Given the description of an element on the screen output the (x, y) to click on. 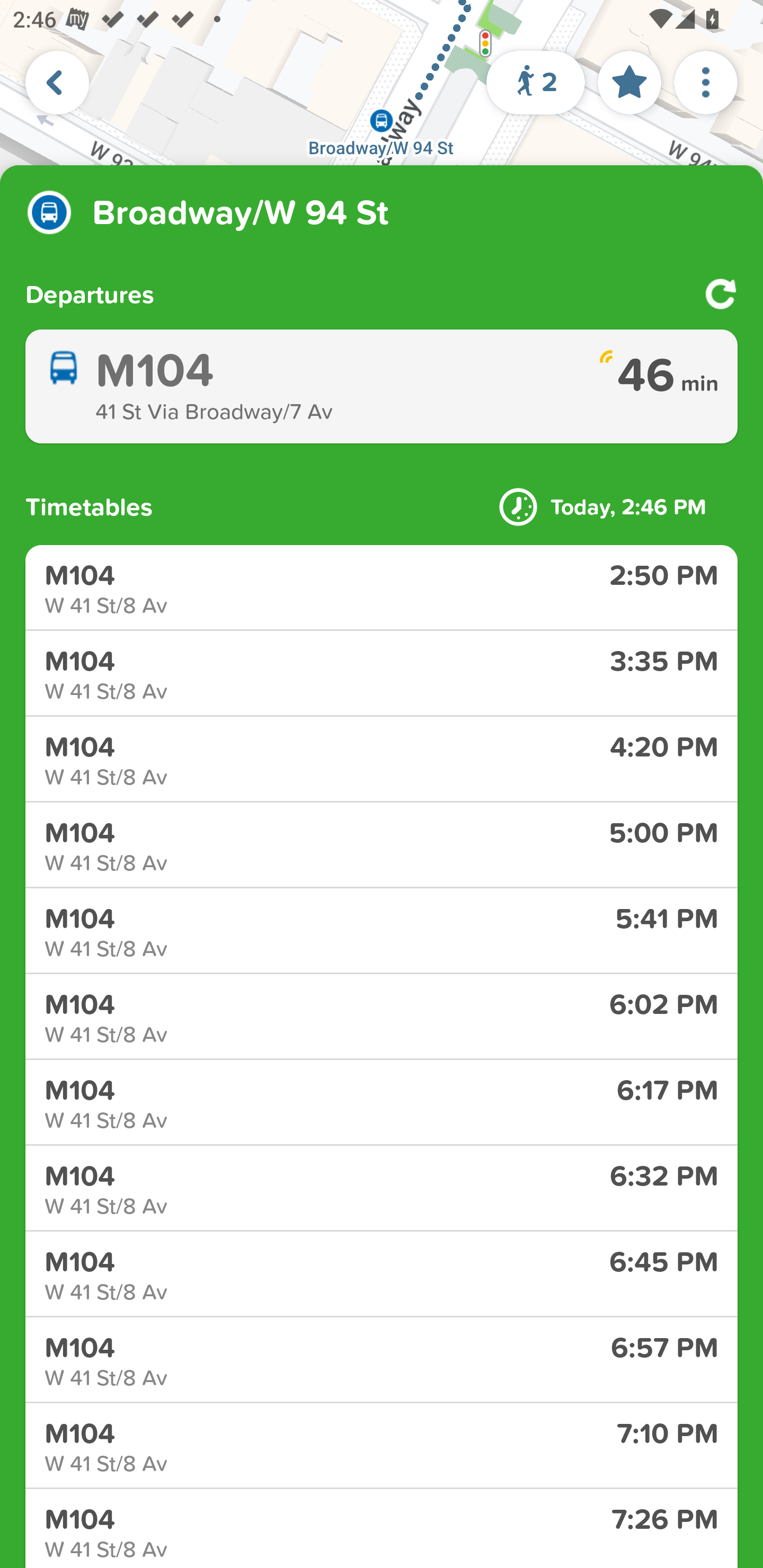
Settings (705, 81)
